Given the description of an element on the screen output the (x, y) to click on. 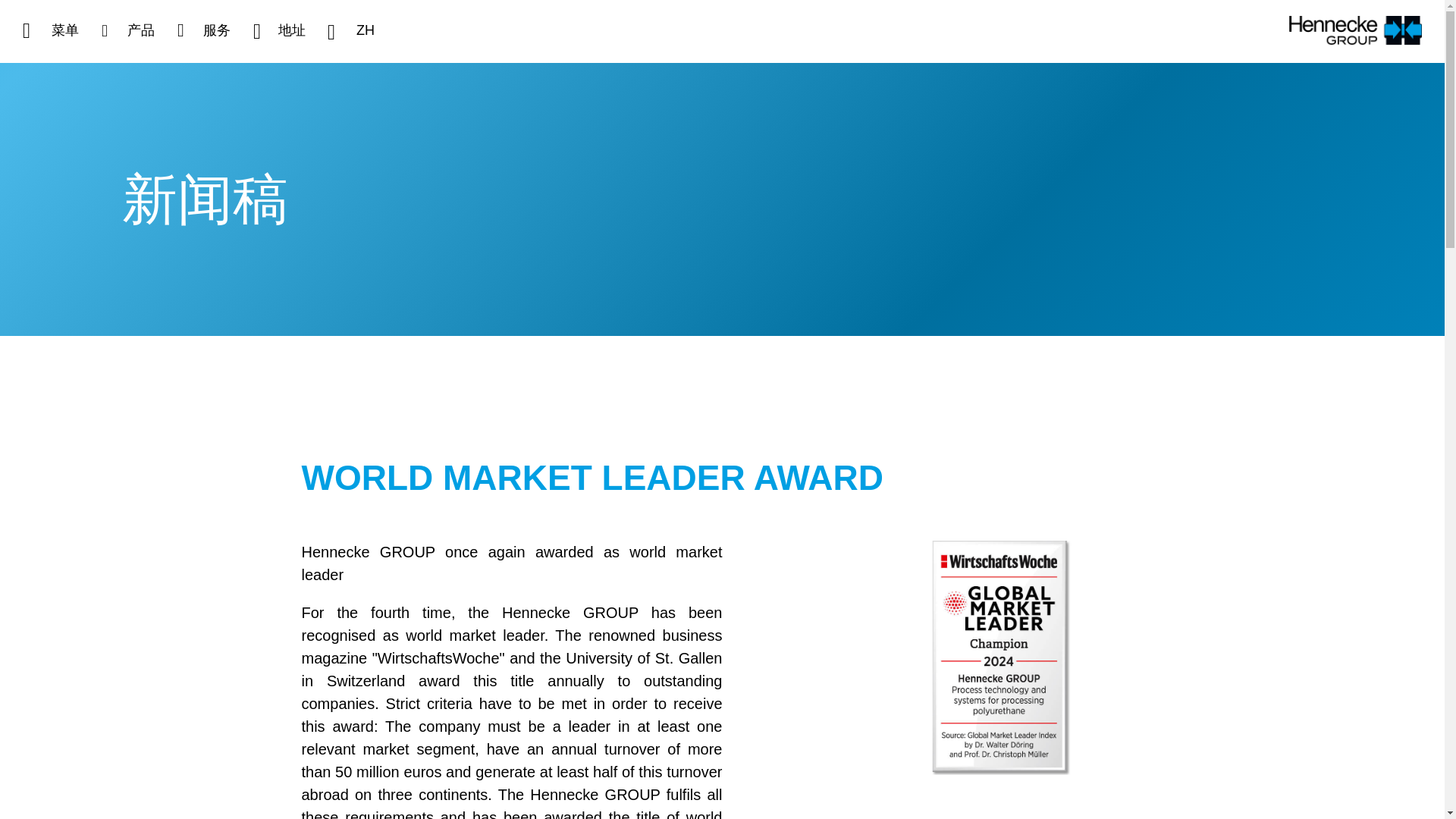
ZH (350, 30)
